Given the description of an element on the screen output the (x, y) to click on. 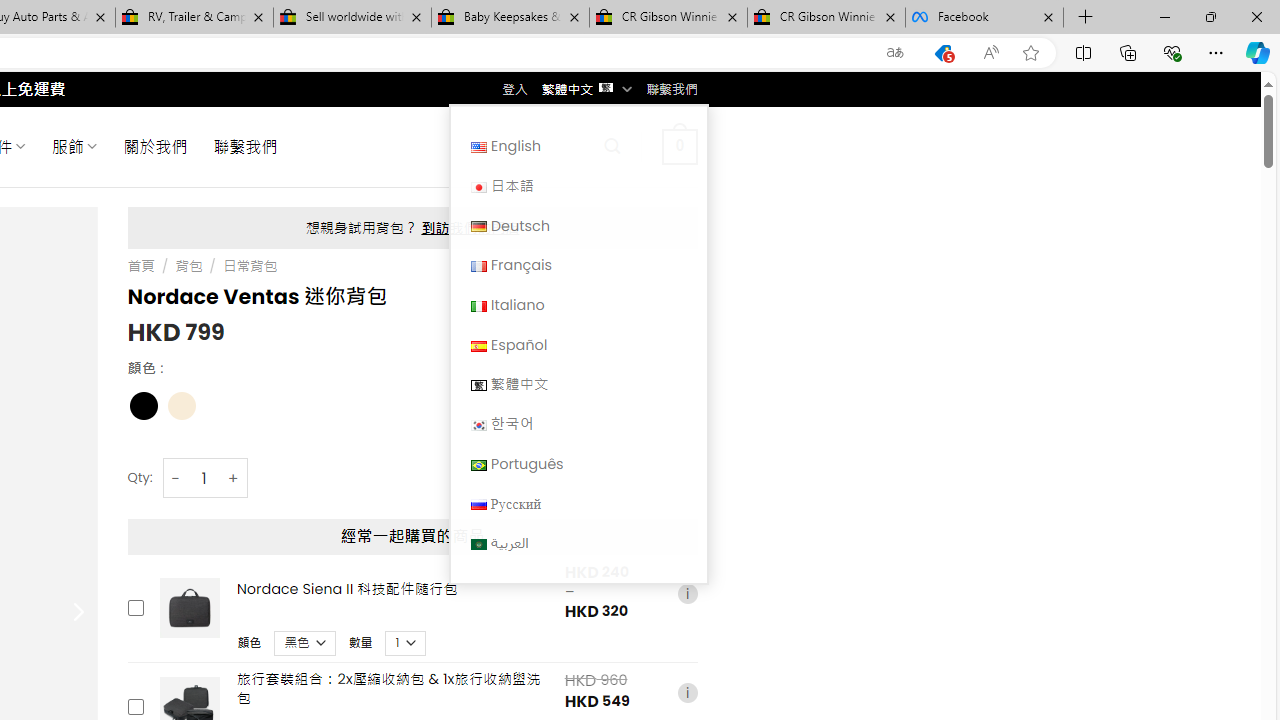
Show translate options (895, 53)
  0   (679, 146)
Baby Keepsakes & Announcements for sale | eBay (509, 17)
